Given the description of an element on the screen output the (x, y) to click on. 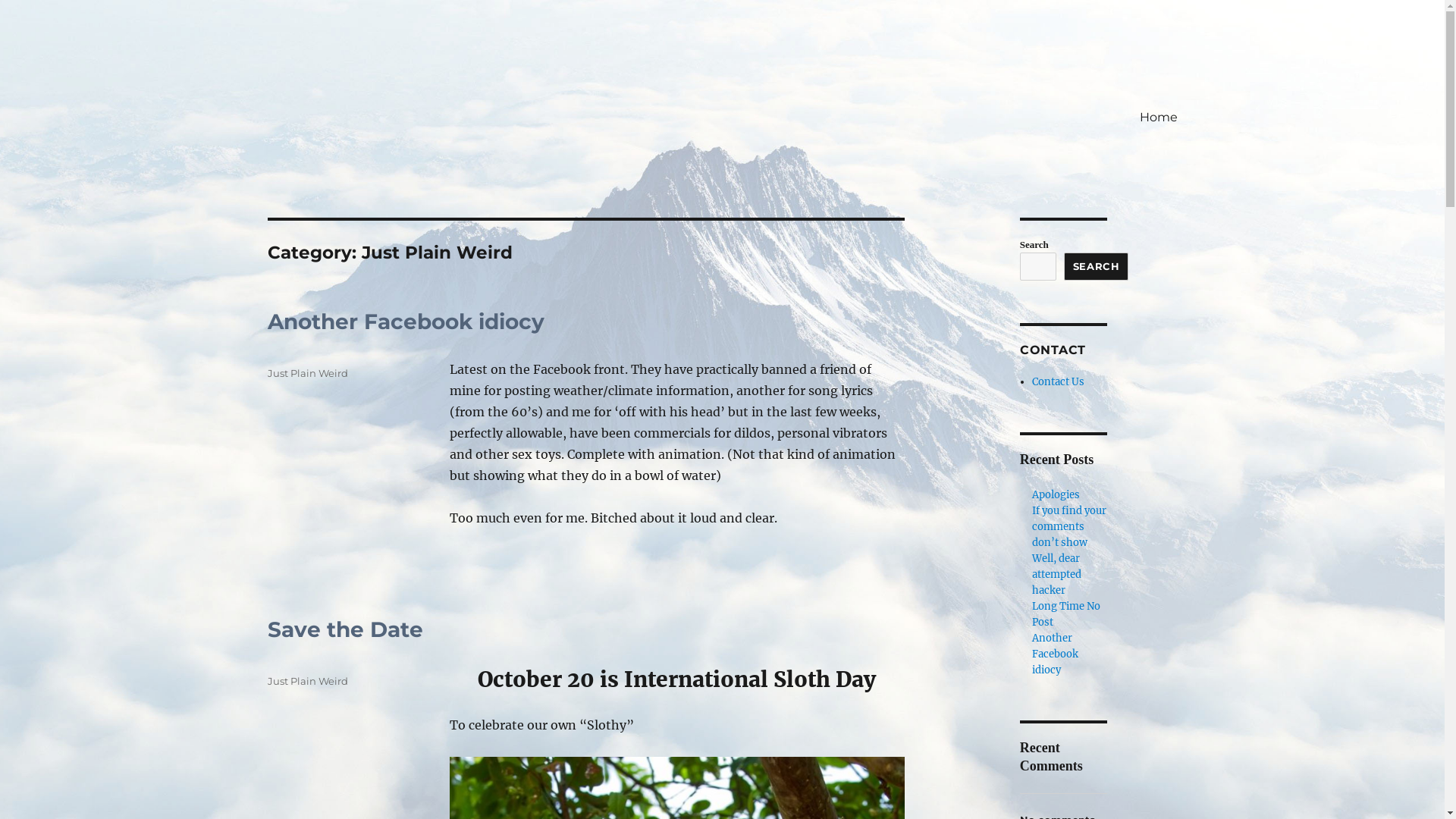
Well, dear attempted hacker Element type: text (1056, 574)
Another Facebook idiocy Element type: text (1055, 653)
Contact Us Element type: text (1058, 381)
Another Facebook idiocy Element type: text (404, 321)
Save the Date Element type: text (344, 629)
Just Plain Weird Element type: text (306, 680)
3 Harpies Ltd. Element type: text (342, 92)
Long Time No Post Element type: text (1066, 613)
Apologies Element type: text (1055, 494)
Home Element type: text (1157, 116)
SEARCH Element type: text (1096, 266)
Just Plain Weird Element type: text (306, 373)
